Given the description of an element on the screen output the (x, y) to click on. 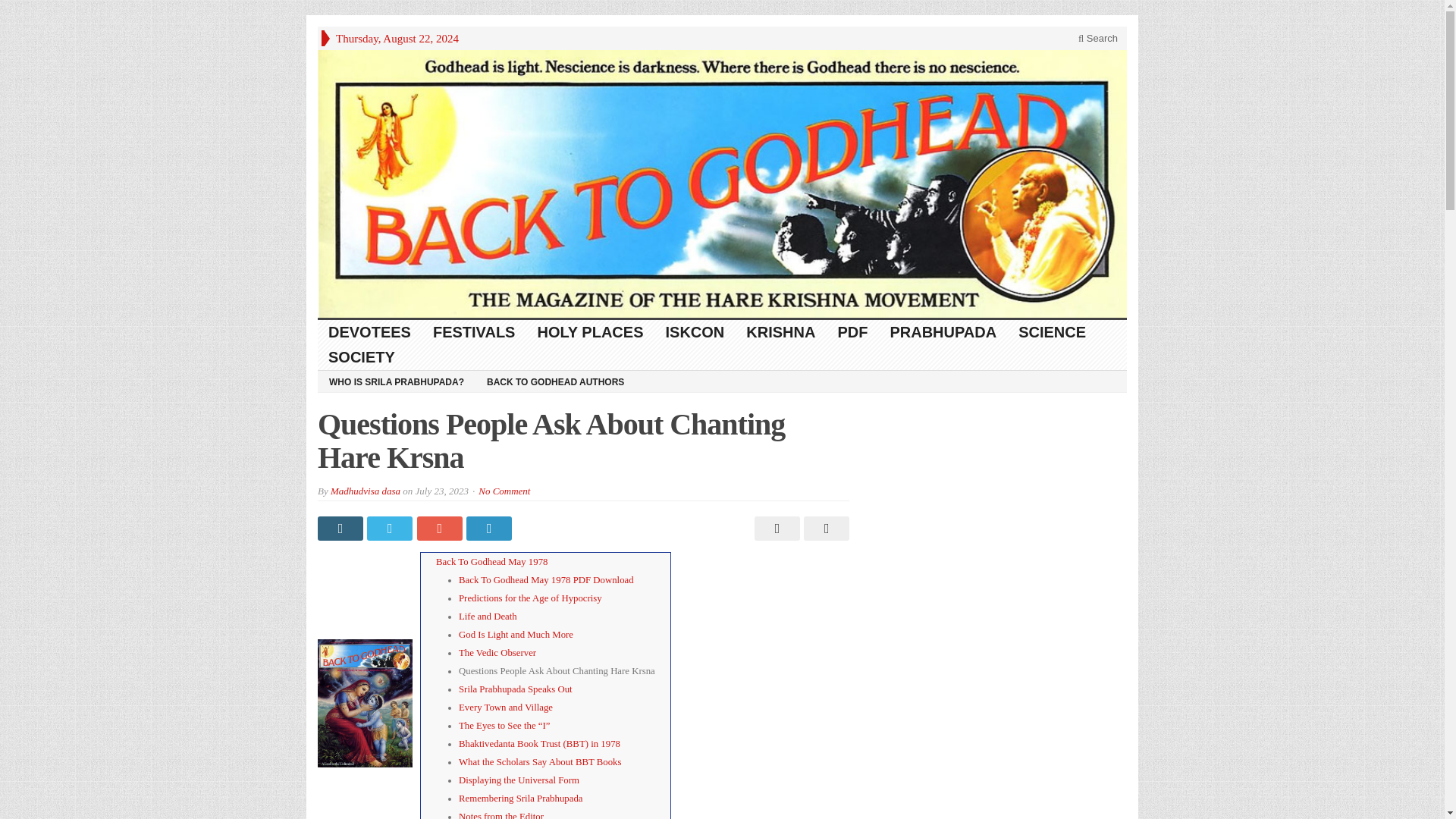
Back To Godhead May 1978 PDF Download (545, 579)
Every Town and Village (505, 706)
Life and Death (487, 615)
KRISHNA (781, 332)
Search (1097, 37)
HOLY PLACES (589, 332)
God Is Light and Much More (515, 634)
Predictions for the Age of Hypocrisy (530, 597)
DEVOTEES (369, 332)
Srila Prabhupada Speaks Out (515, 688)
